Given the description of an element on the screen output the (x, y) to click on. 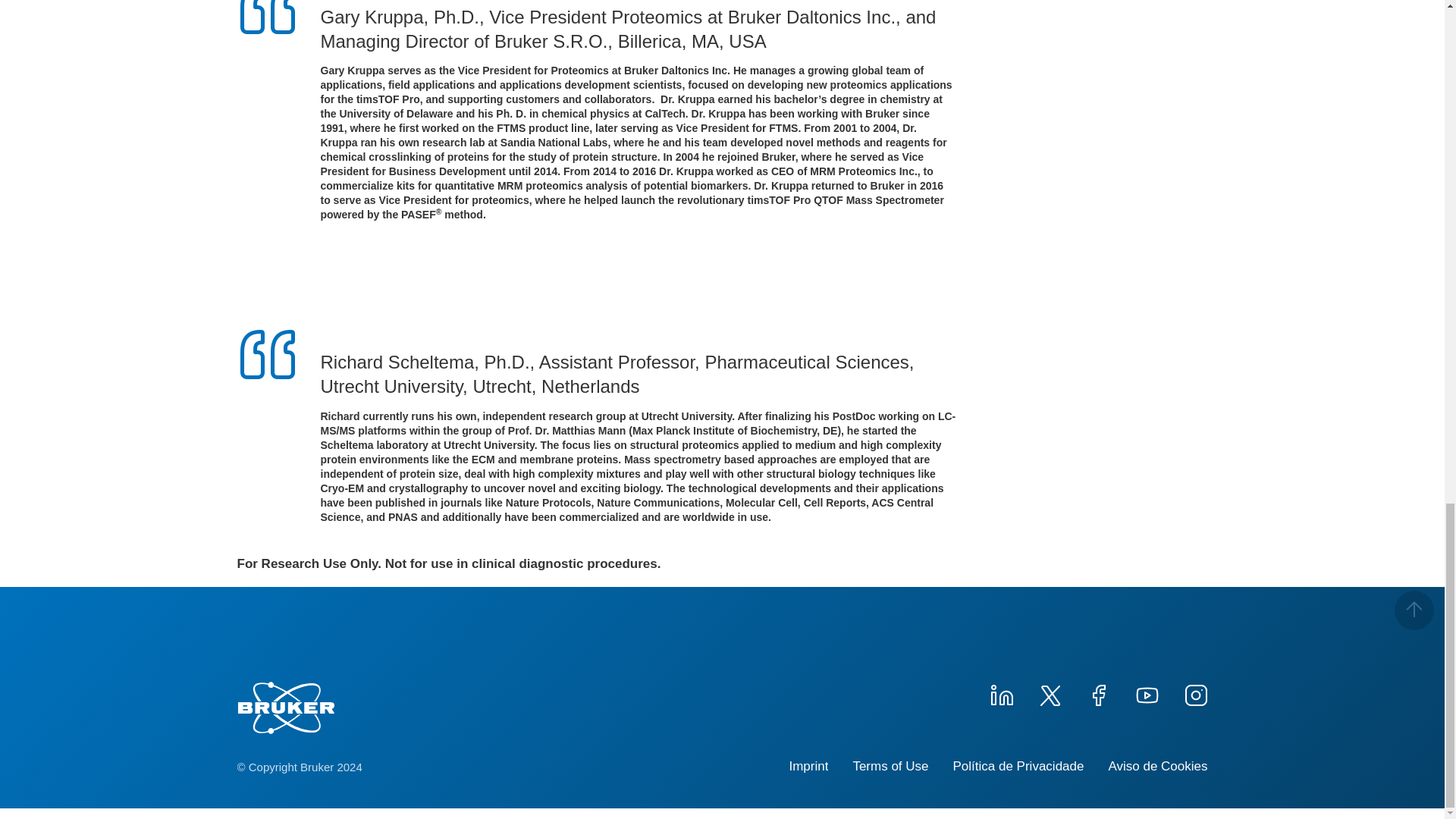
Aviso de Cookies (1157, 766)
youtube (1146, 693)
facebook (1097, 693)
Terms of Use (889, 766)
linkedin (1000, 693)
Imprint (808, 766)
instagram (1194, 693)
twitter (1048, 693)
